Given the description of an element on the screen output the (x, y) to click on. 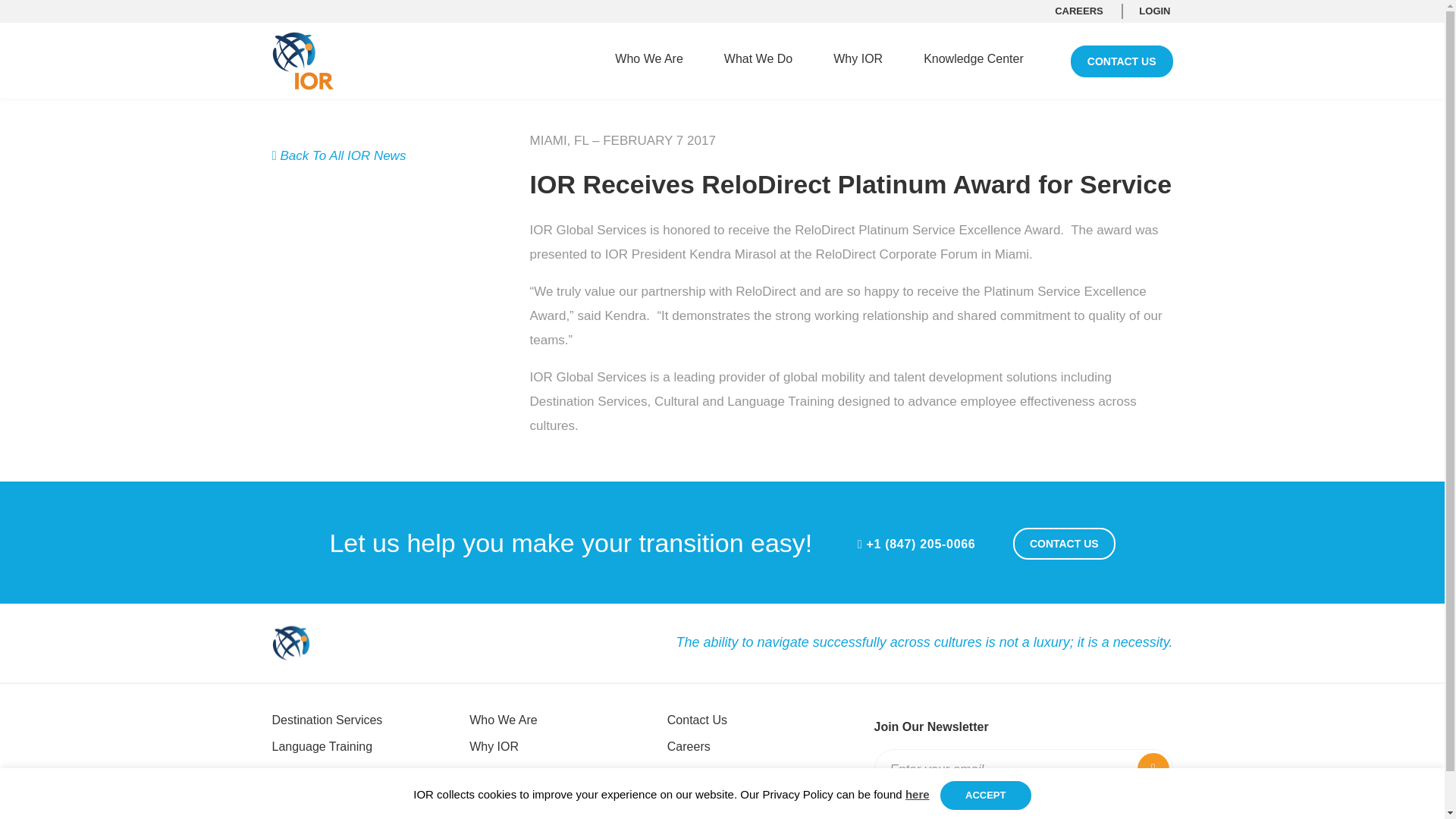
Why IOR (493, 746)
here (917, 793)
Login (681, 772)
Enter your email (1003, 769)
Why IOR (857, 58)
Who We Are (502, 719)
LOGIN (45, 15)
Contact Us (696, 719)
Language Training (321, 746)
CAREERS (1078, 10)
Destination Services (325, 719)
LOGIN (1154, 10)
Careers (688, 746)
Who We Are (648, 58)
Intercultural Solutions (329, 772)
